Given the description of an element on the screen output the (x, y) to click on. 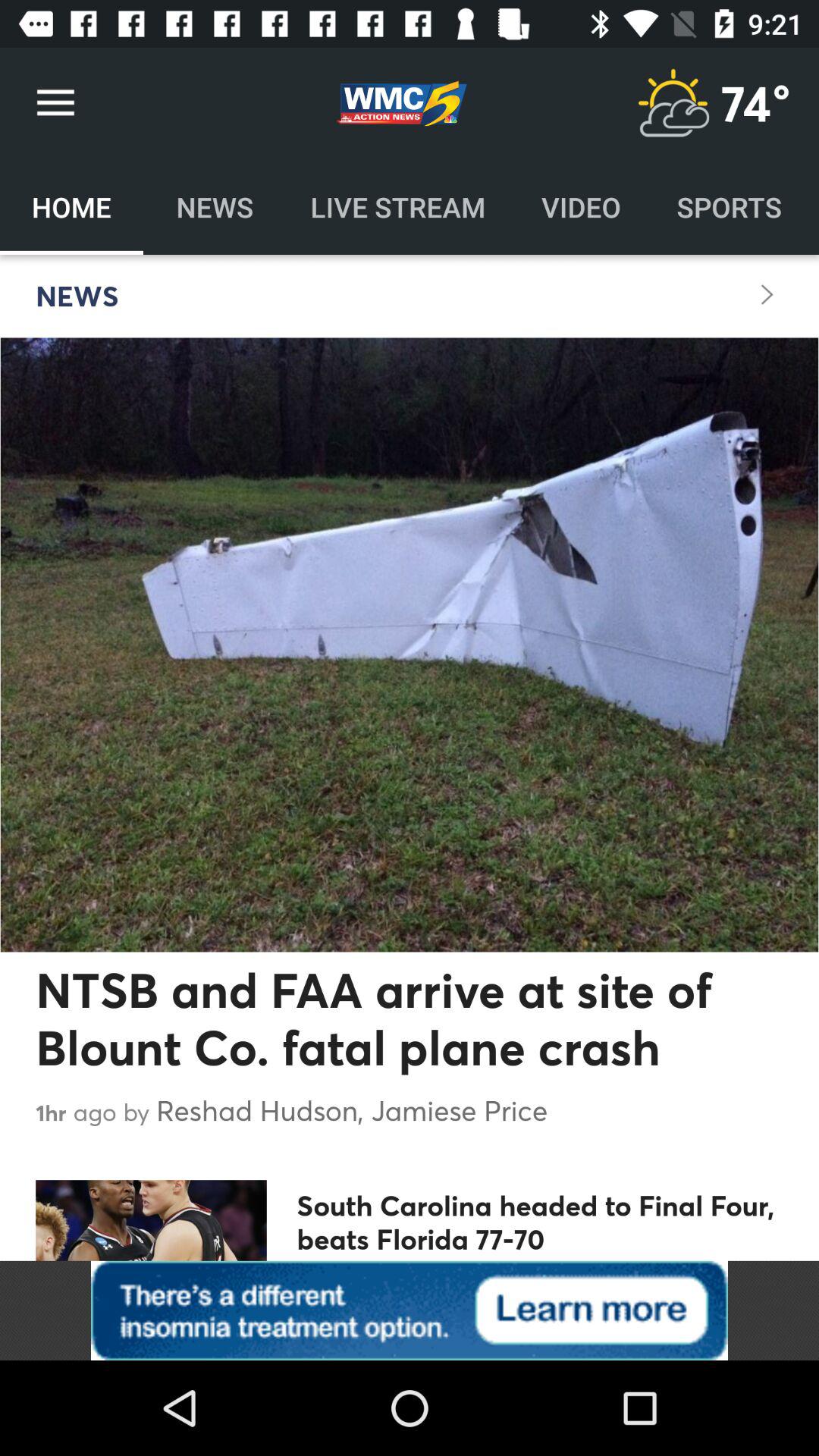
click on advertisement (409, 1310)
